Given the description of an element on the screen output the (x, y) to click on. 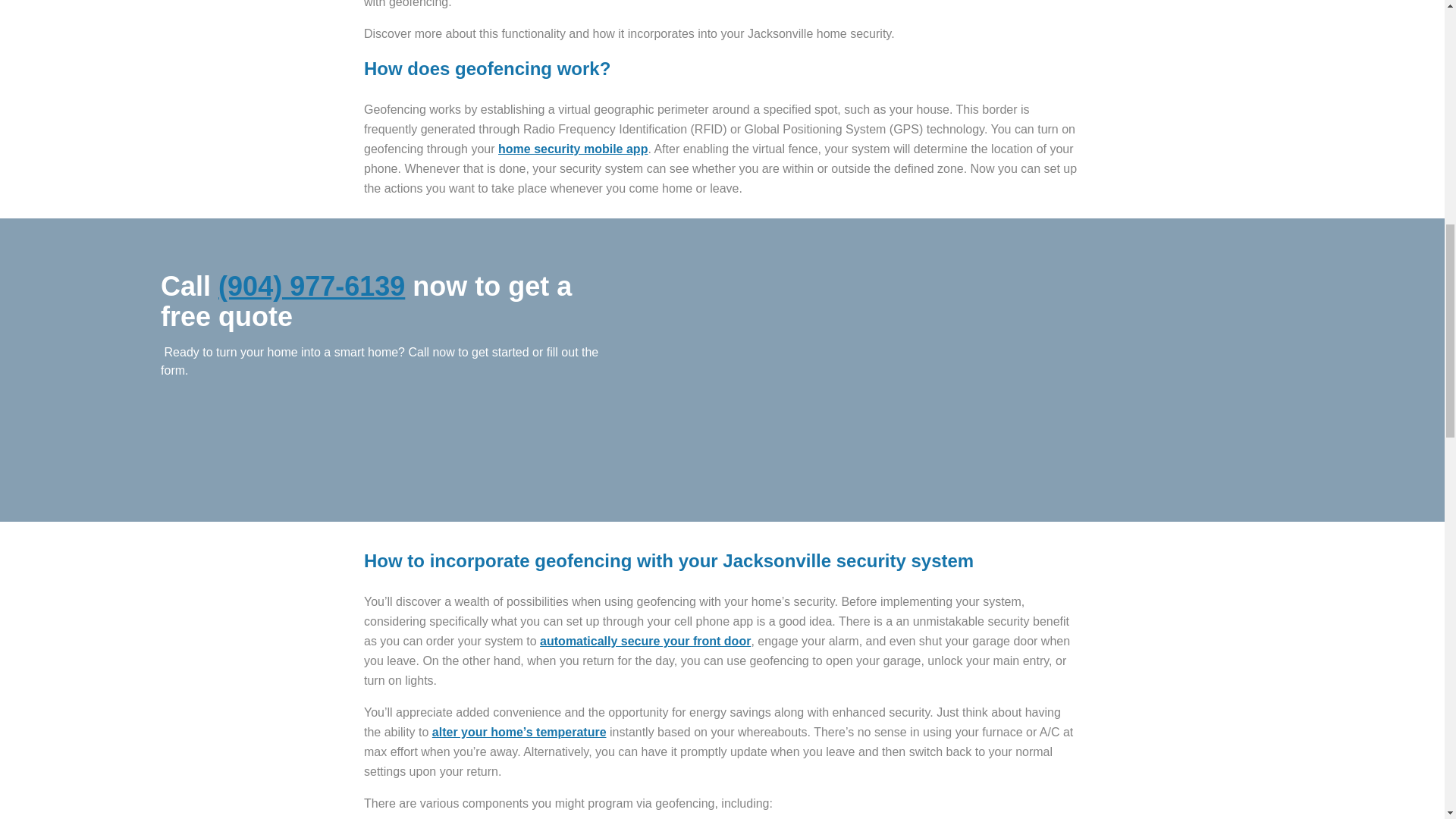
Automatically lock your front door (645, 640)
Home security mobile app (572, 148)
automatically secure your front door (645, 640)
Adjust your home's comfort levels (519, 731)
home security mobile app (572, 148)
